Given the description of an element on the screen output the (x, y) to click on. 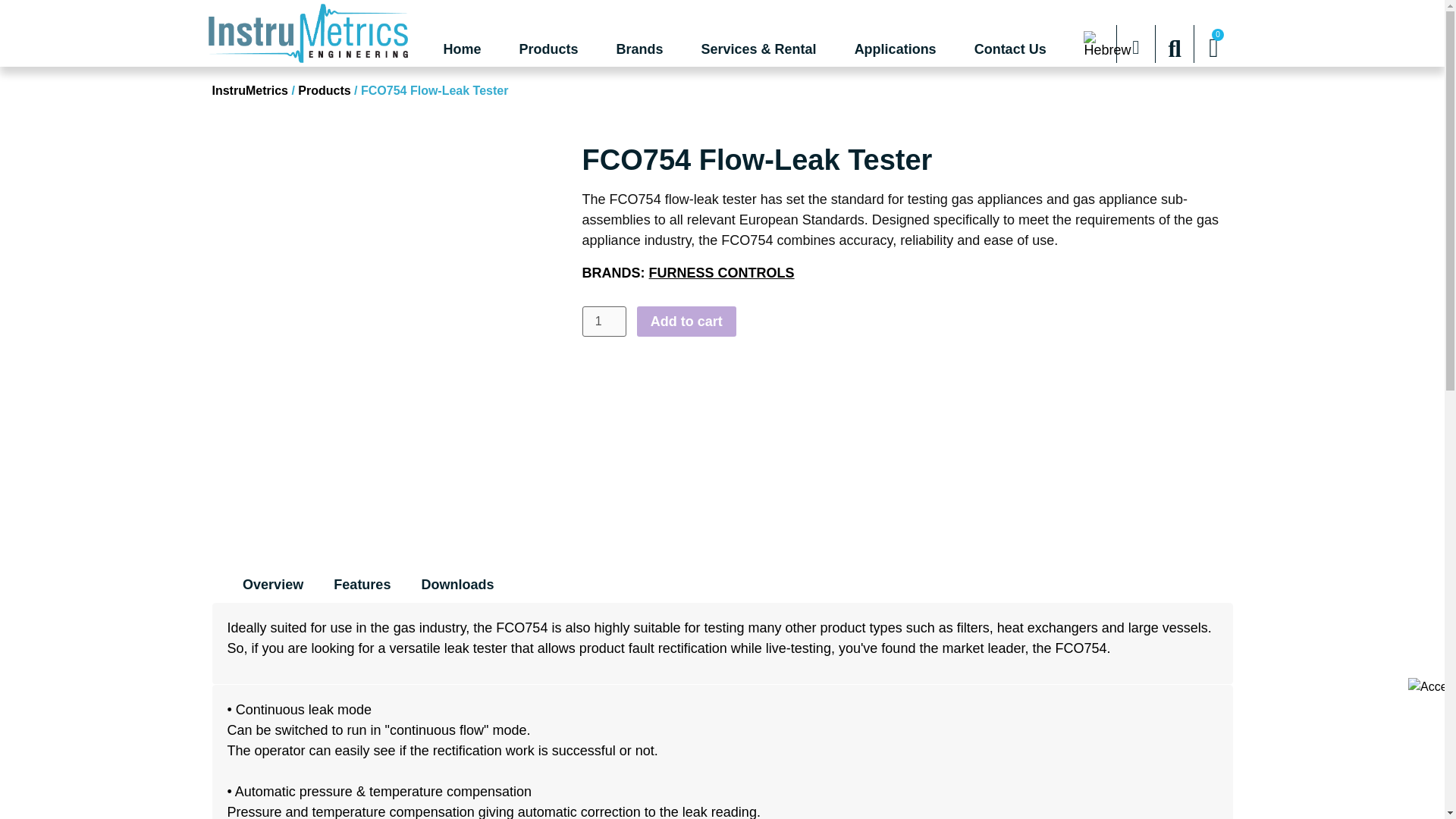
1 (604, 321)
Home (462, 48)
Products (548, 48)
